Given the description of an element on the screen output the (x, y) to click on. 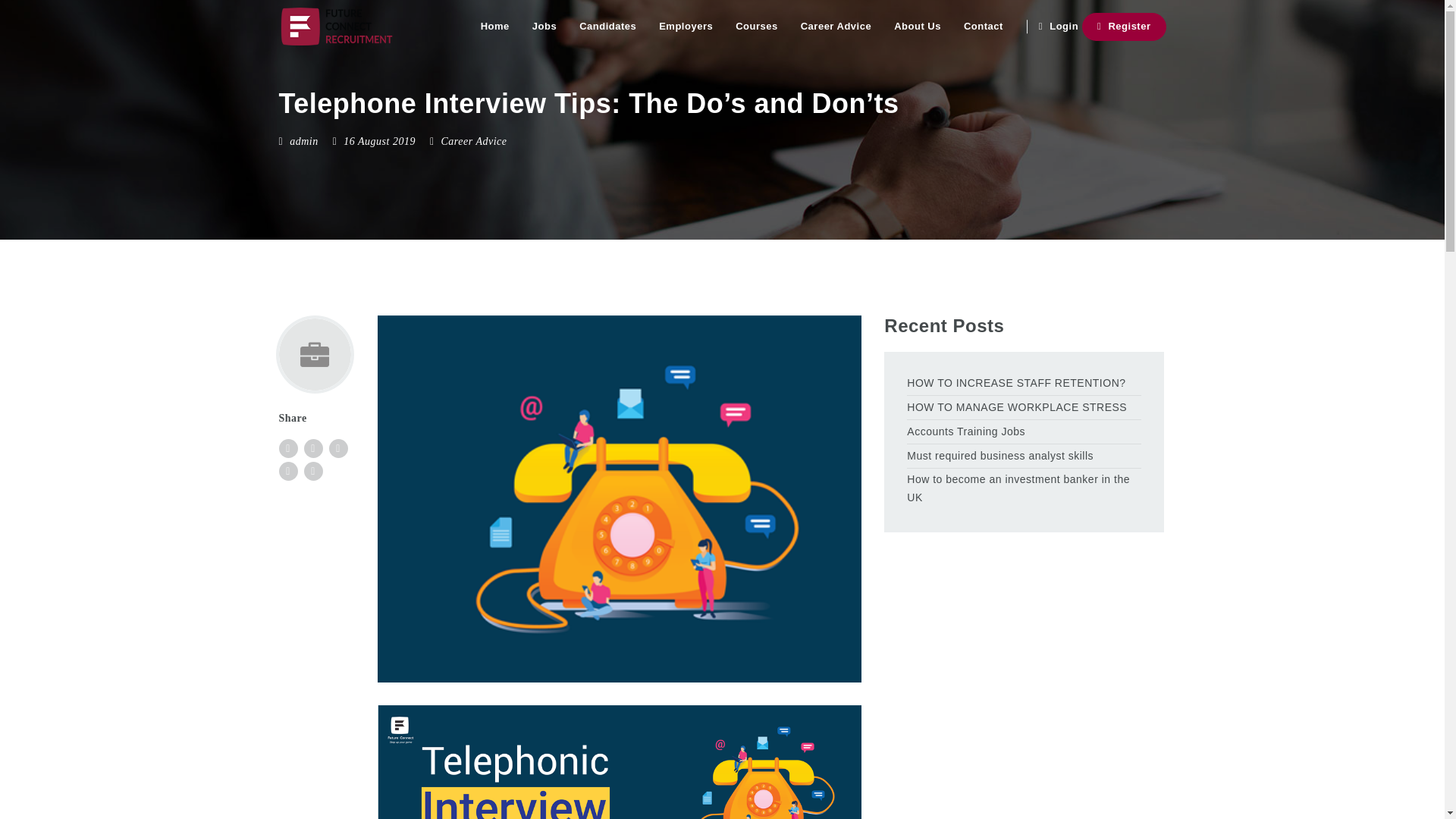
Courses (756, 26)
Employers (685, 26)
admin (303, 141)
Career Advice (835, 26)
Must required business analyst skills (1024, 456)
 Register (1123, 26)
HOW TO MANAGE WORKPLACE STRESS (1024, 407)
Step up your Game (336, 26)
How to become an investment banker in the UK (1024, 488)
About Us (917, 26)
